Given the description of an element on the screen output the (x, y) to click on. 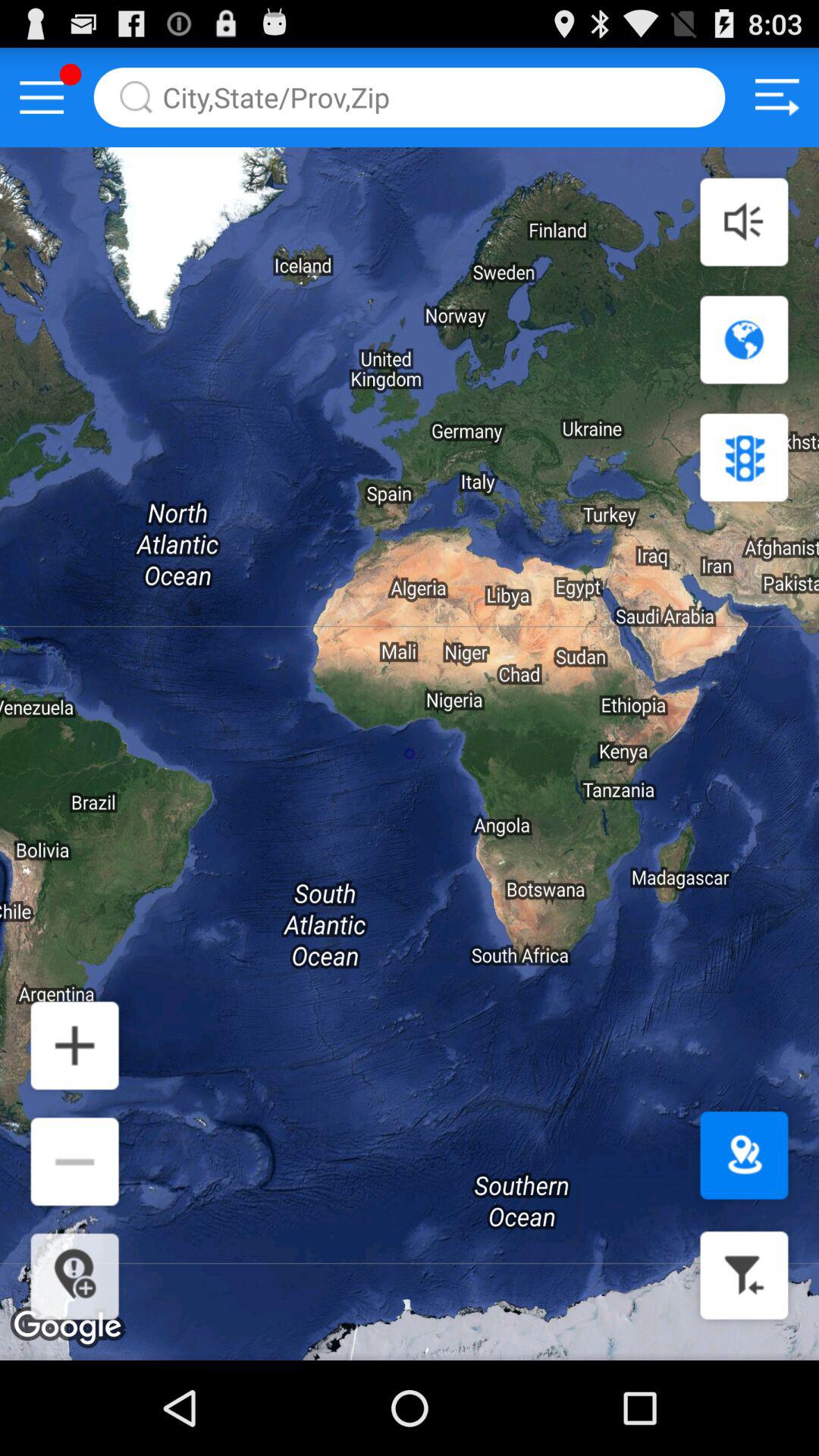
zoom in (74, 1045)
